Given the description of an element on the screen output the (x, y) to click on. 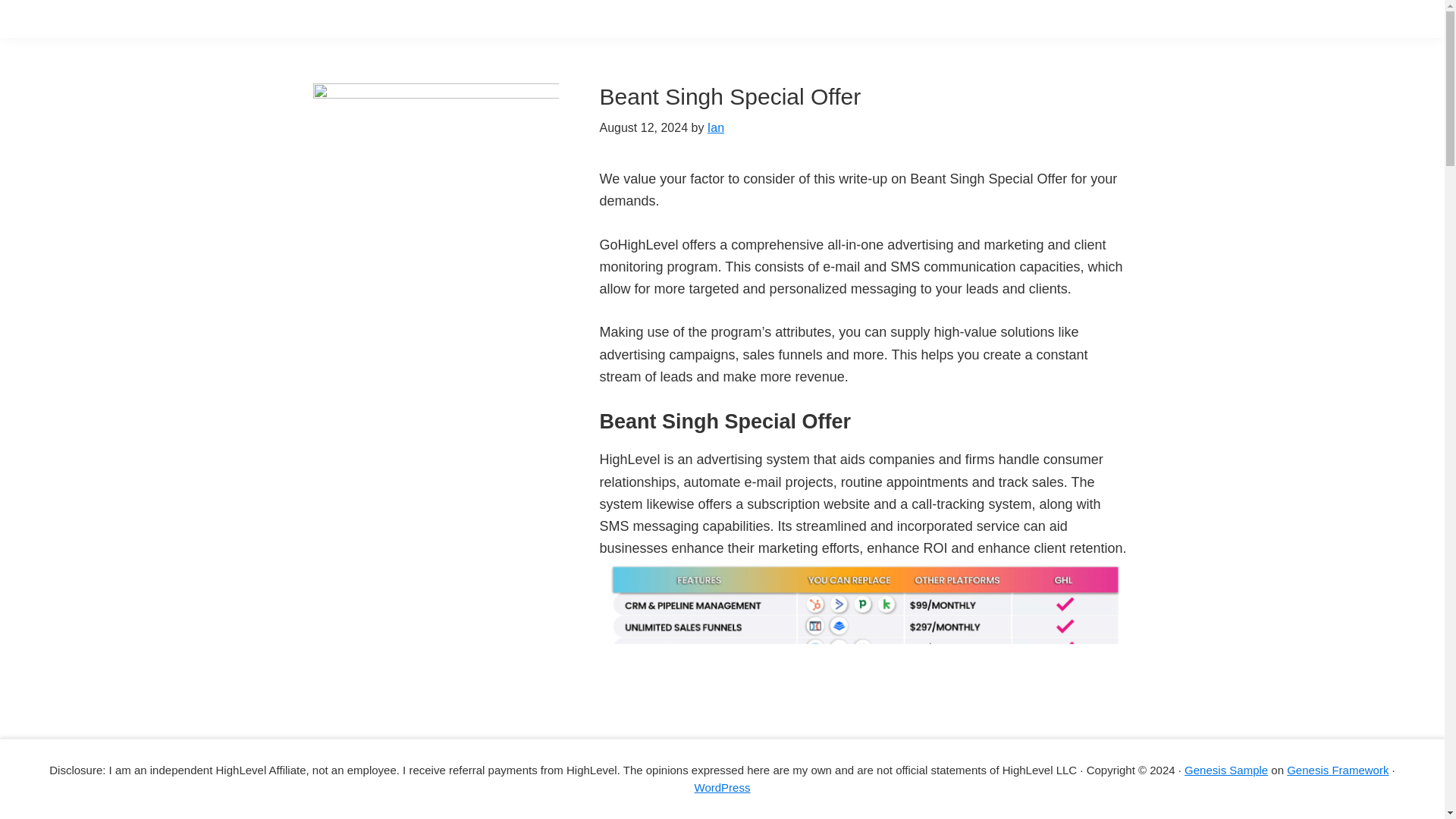
Genesis Framework (1338, 769)
Ian (715, 127)
Genesis Sample (1226, 769)
WordPress (722, 787)
